Given the description of an element on the screen output the (x, y) to click on. 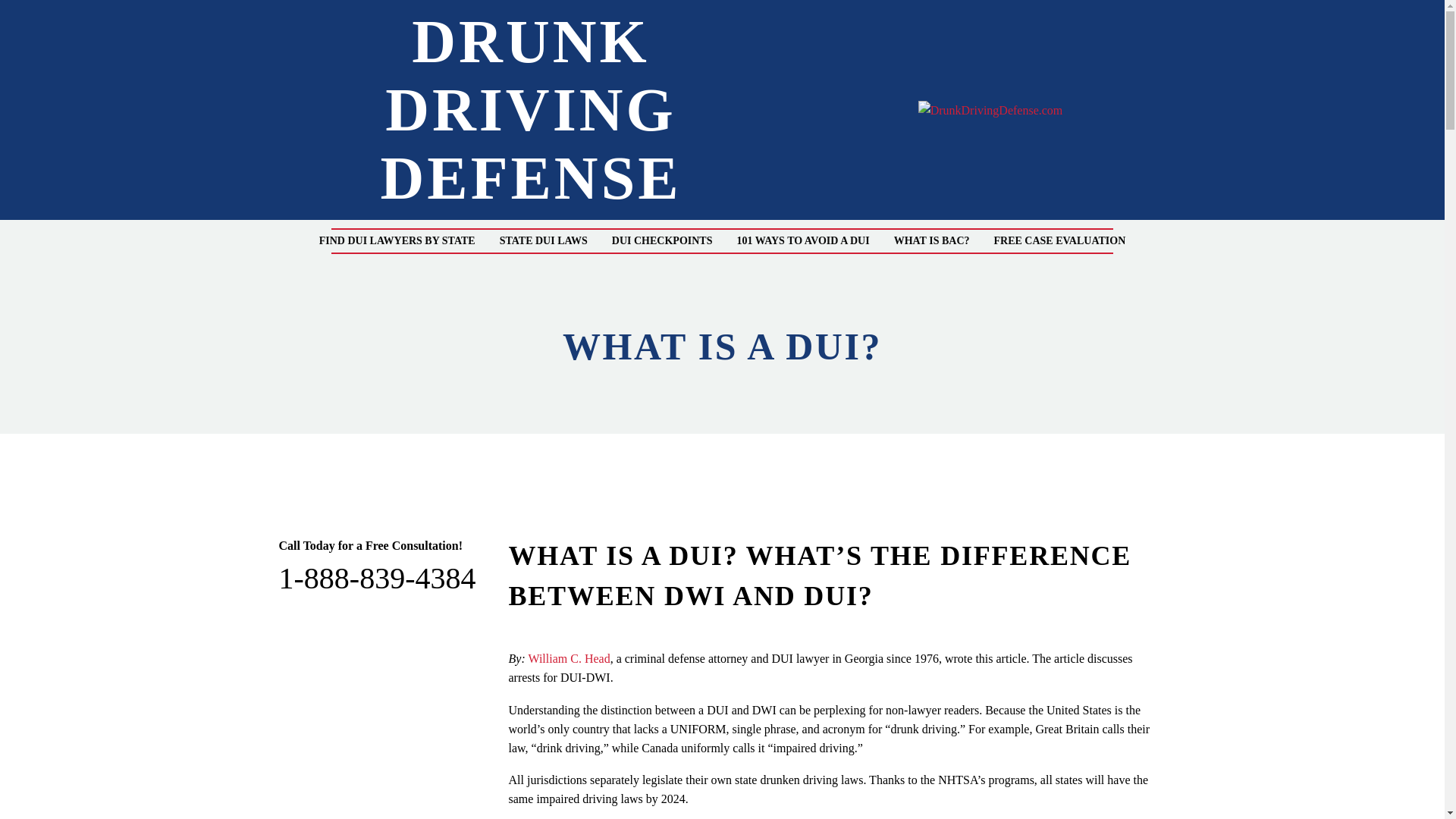
Drunk Driving Defense (990, 109)
FIND DUI LAWYERS BY STATE (397, 240)
